Given the description of an element on the screen output the (x, y) to click on. 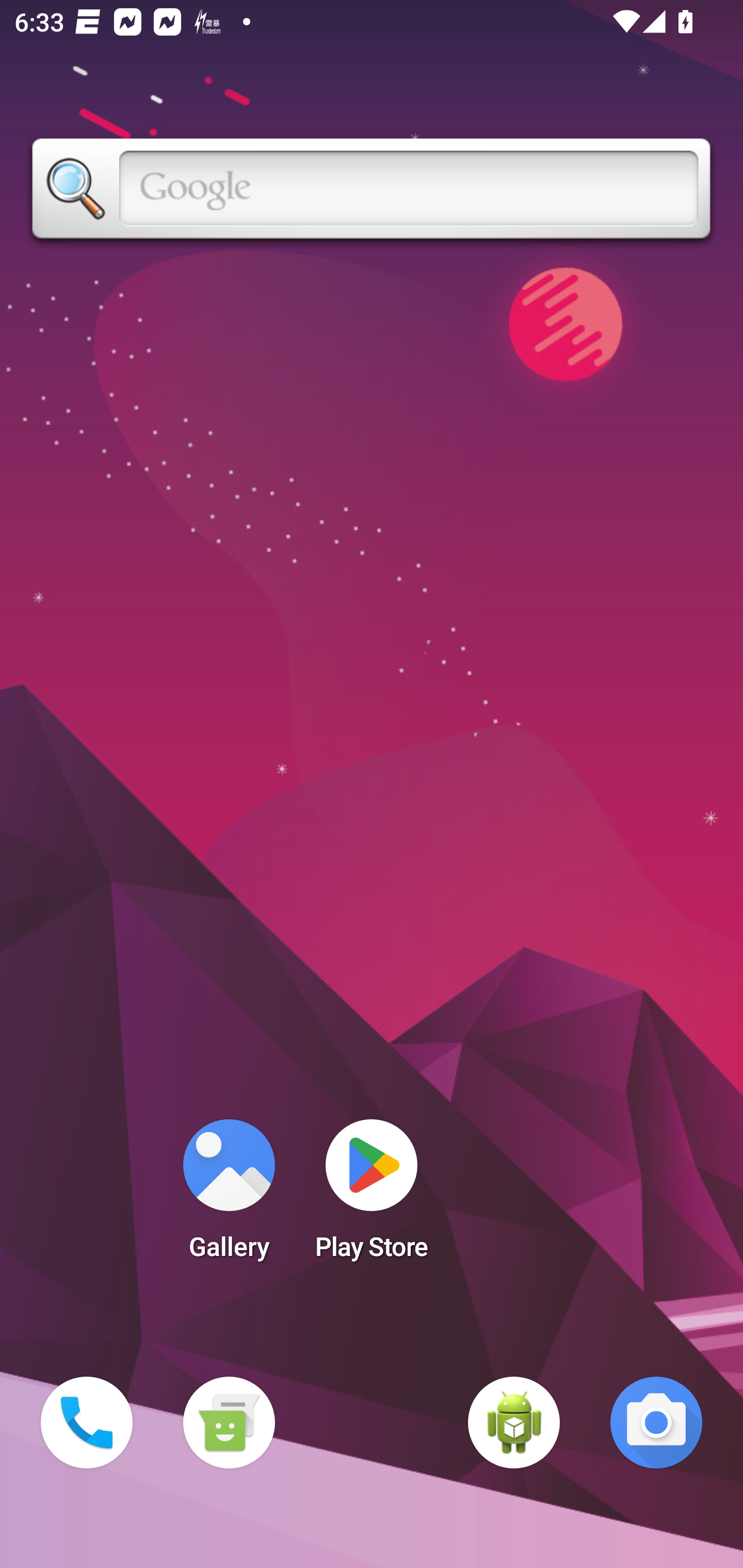
Gallery (228, 1195)
Play Store (371, 1195)
Phone (86, 1422)
Messaging (228, 1422)
WebView Browser Tester (513, 1422)
Camera (656, 1422)
